Given the description of an element on the screen output the (x, y) to click on. 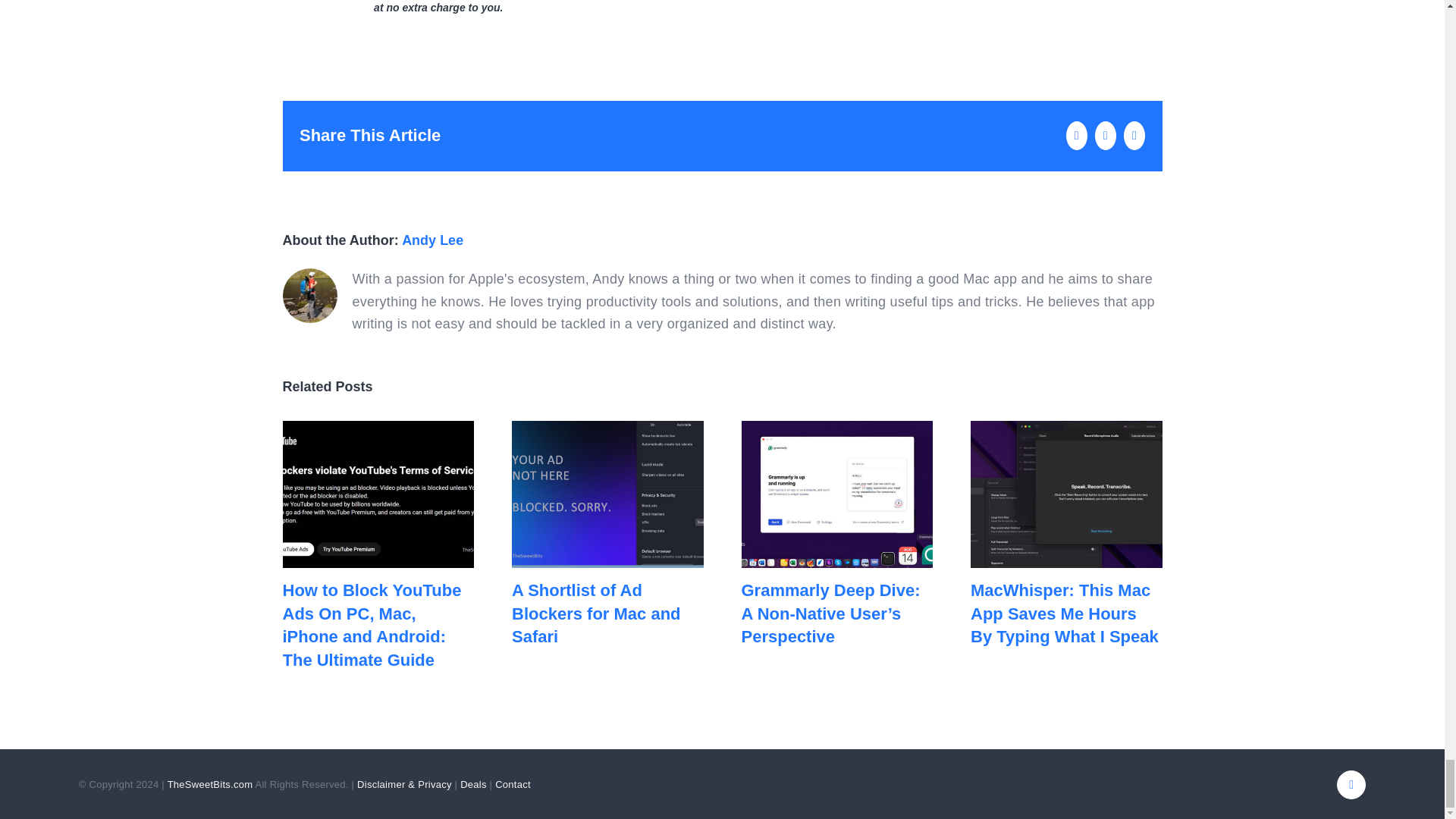
A Shortlist of Ad Blockers for Mac and Safari (596, 613)
Posts by Andy Lee (432, 240)
Twitter (1350, 784)
